Given the description of an element on the screen output the (x, y) to click on. 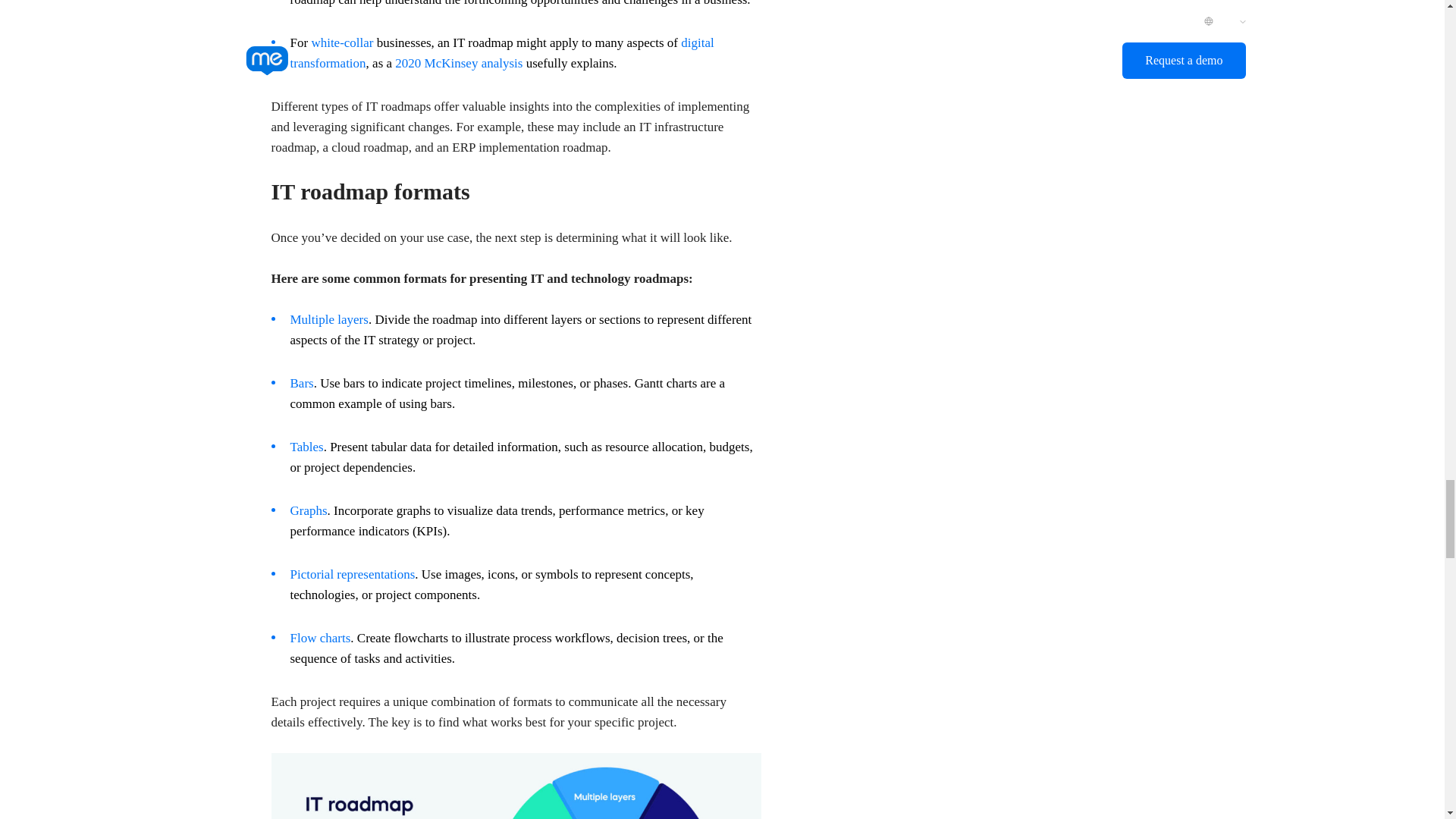
digital transformation (501, 53)
2020 McKinsey analysis (458, 63)
